Given the description of an element on the screen output the (x, y) to click on. 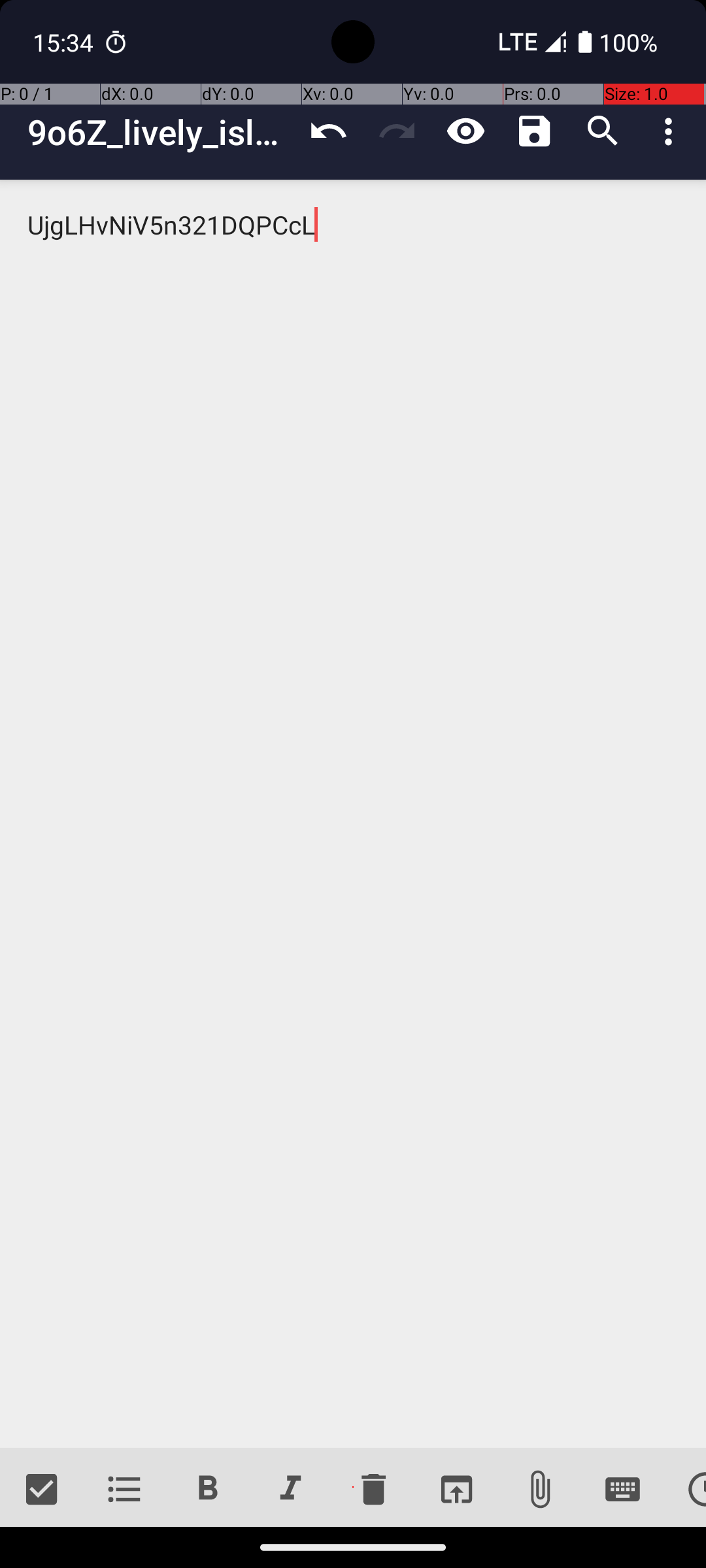
9o6Z_lively_island_edited Element type: android.widget.TextView (160, 131)
UjgLHvNiV5n321DQPCcL Element type: android.widget.EditText (353, 813)
